Given the description of an element on the screen output the (x, y) to click on. 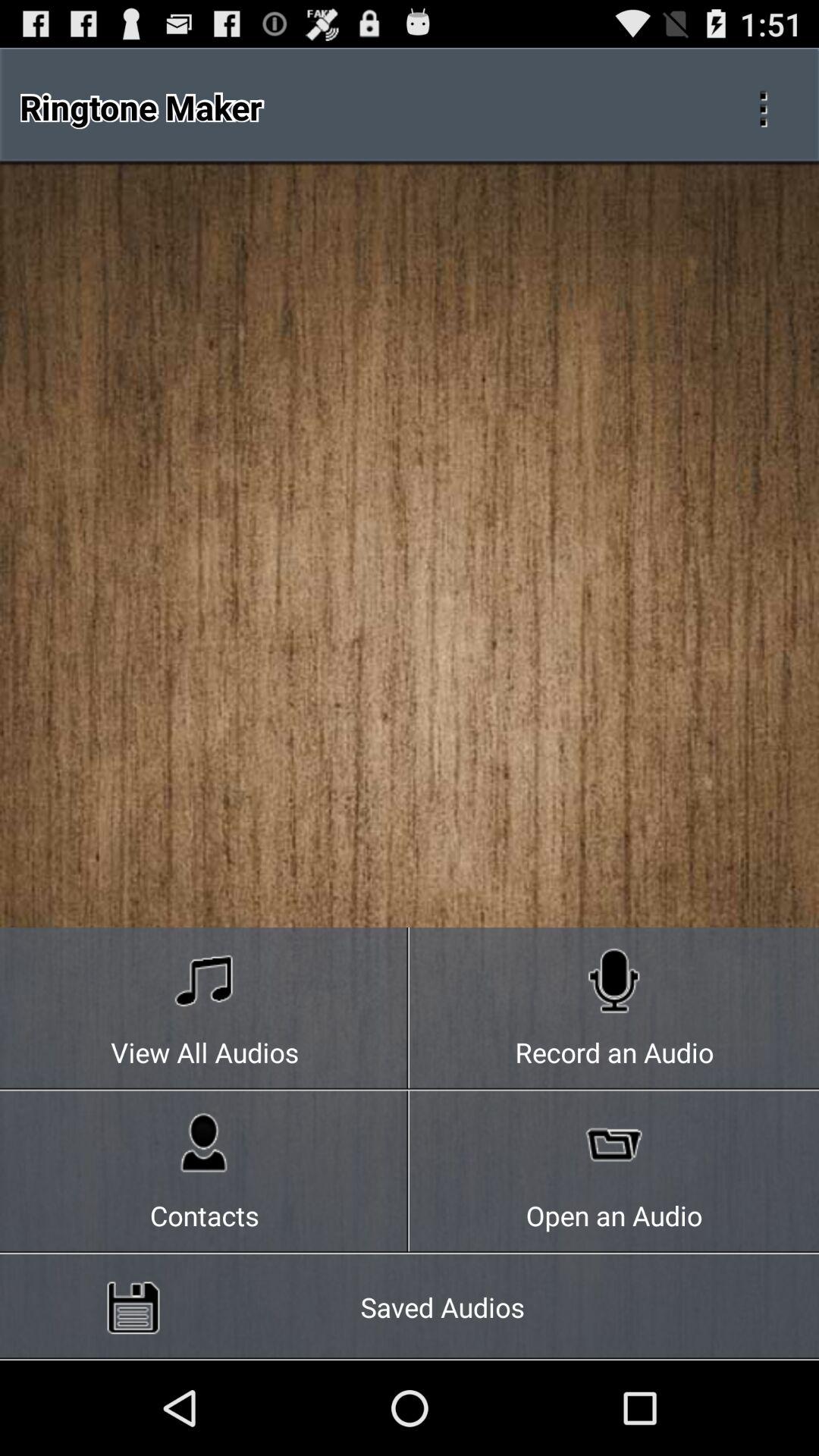
turn on the view all audios (204, 1008)
